Given the description of an element on the screen output the (x, y) to click on. 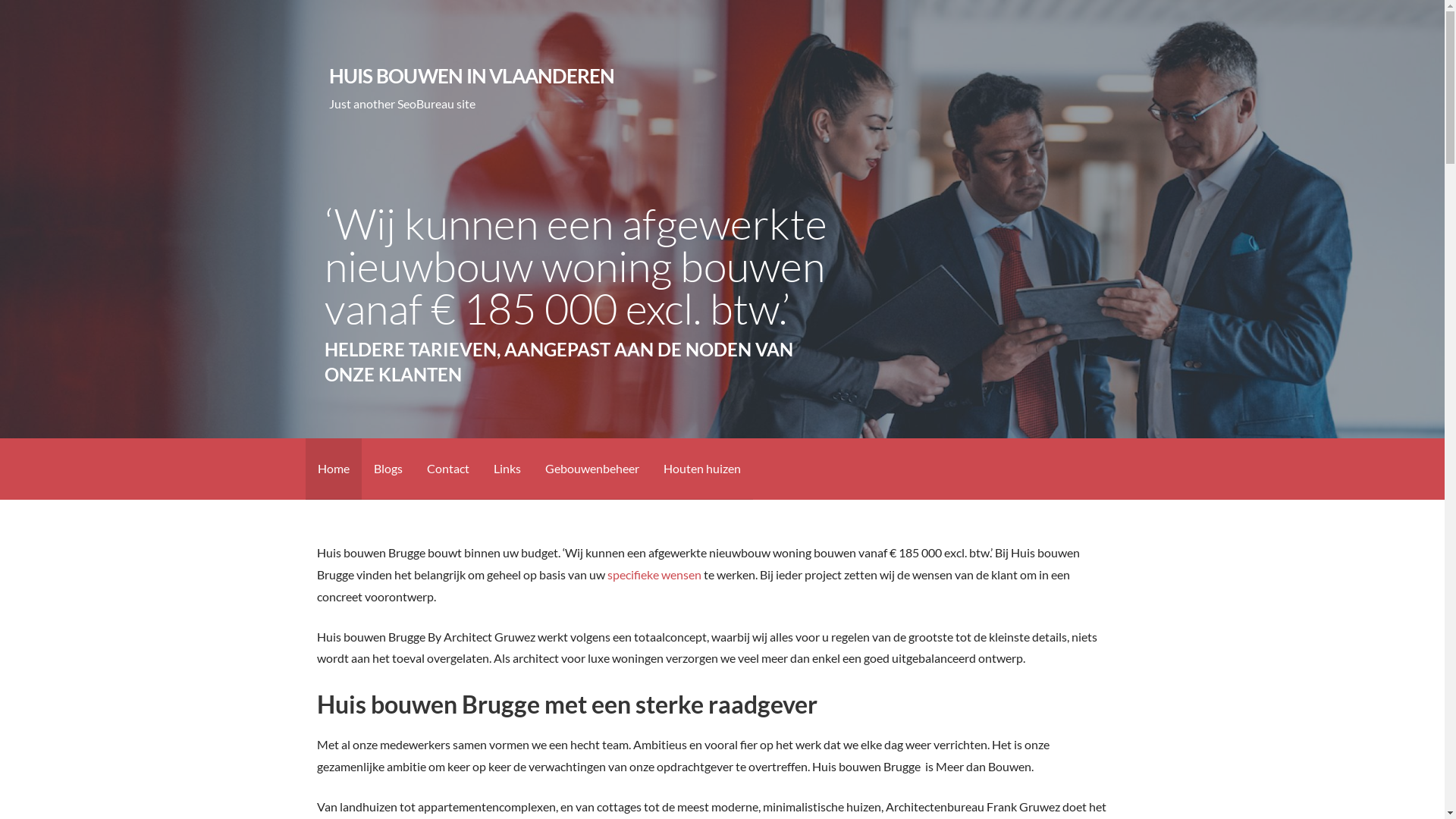
Home Element type: text (332, 468)
Blogs Element type: text (387, 468)
HUIS BOUWEN IN VLAANDEREN Element type: text (472, 75)
Links Element type: text (506, 468)
Houten huizen Element type: text (701, 468)
specifieke wensen Element type: text (654, 574)
Contact Element type: text (447, 468)
Gebouwenbeheer Element type: text (591, 468)
